Given the description of an element on the screen output the (x, y) to click on. 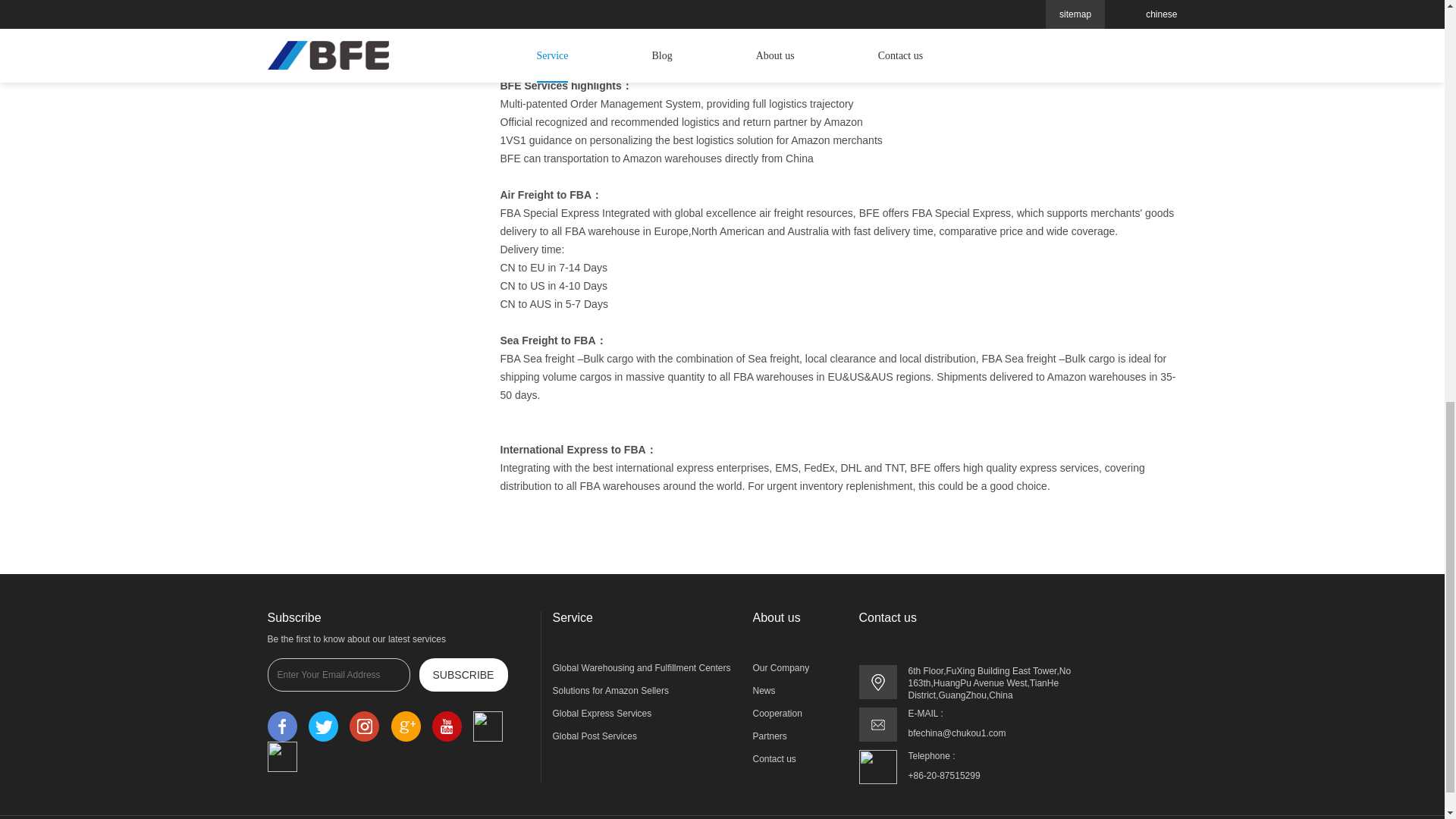
SUBSCRIBE (462, 674)
SUBSCRIBE (462, 674)
